Given the description of an element on the screen output the (x, y) to click on. 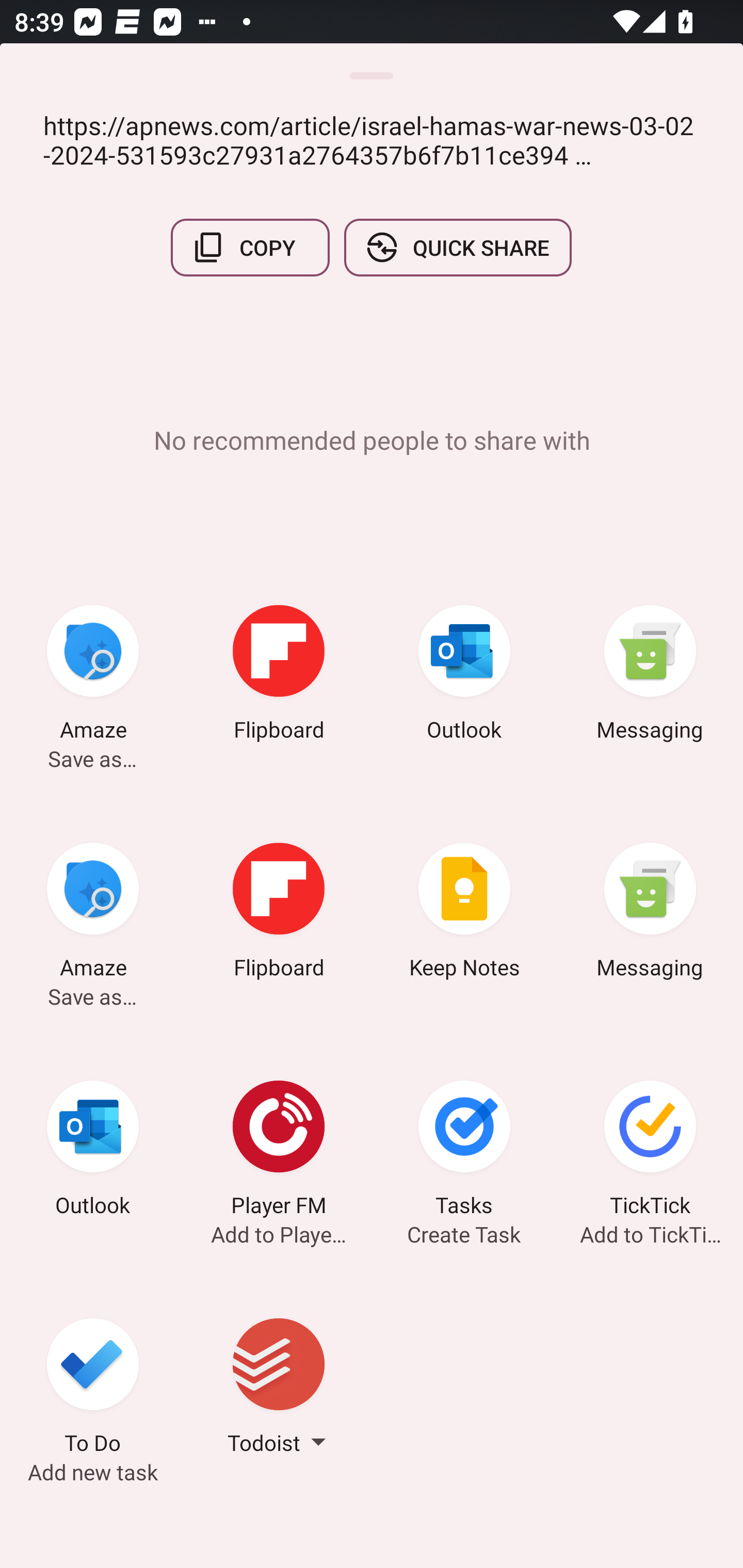
COPY (249, 247)
QUICK SHARE (457, 247)
Amaze Save as… (92, 675)
Flipboard (278, 675)
Outlook (464, 675)
Messaging (650, 675)
Amaze Save as… (92, 913)
Flipboard (278, 913)
Keep Notes (464, 913)
Messaging (650, 913)
Outlook (92, 1151)
Player FM Add to Player FM (278, 1151)
Tasks Create Task (464, 1151)
TickTick Add to TickTick (650, 1151)
To Do Add new task (92, 1389)
Todoist (278, 1389)
